Given the description of an element on the screen output the (x, y) to click on. 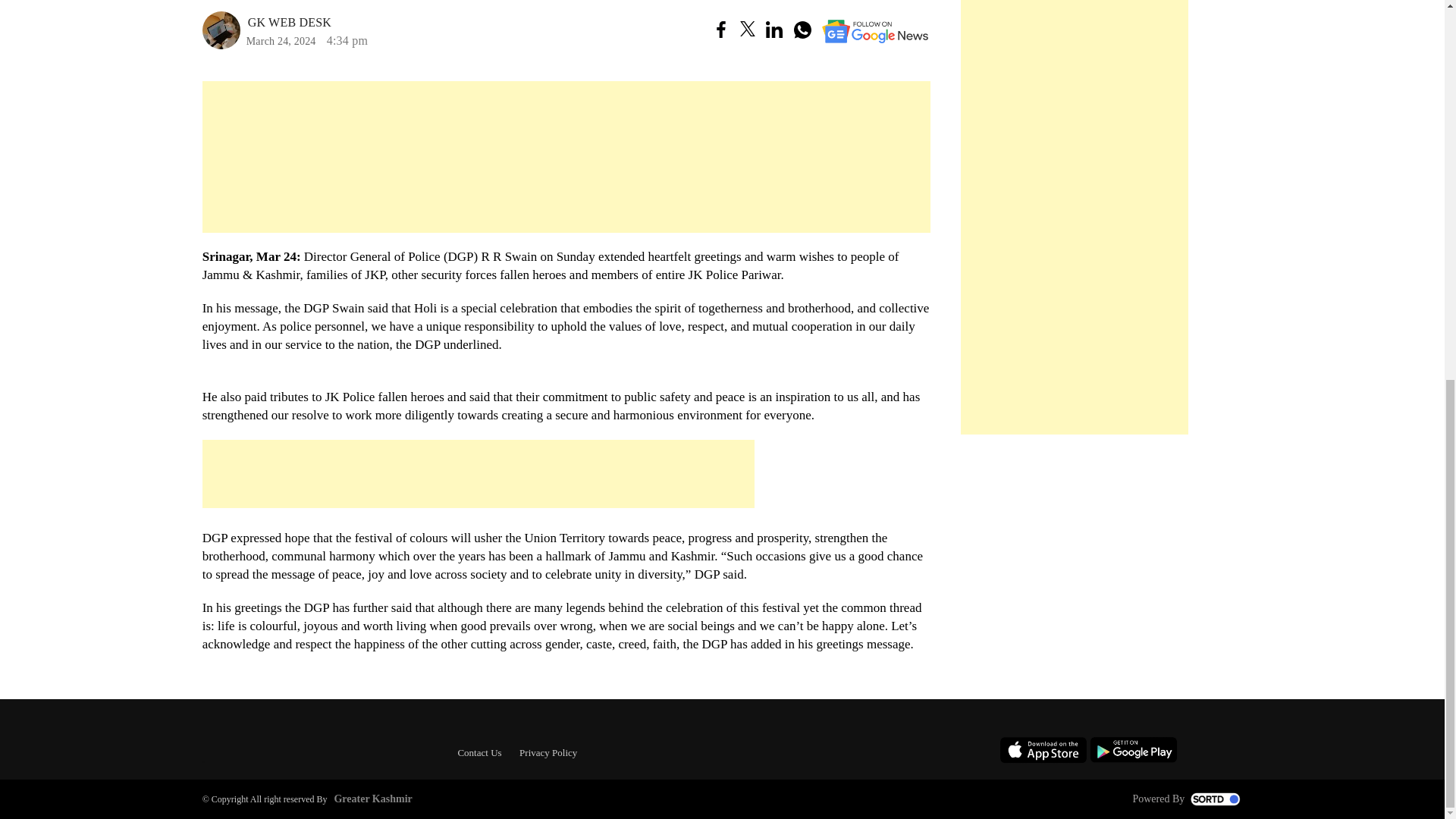
March 24, 2024 (280, 41)
Greater Kashmir (370, 798)
DGP RR Swain greets people on Holi (266, 30)
